Given the description of an element on the screen output the (x, y) to click on. 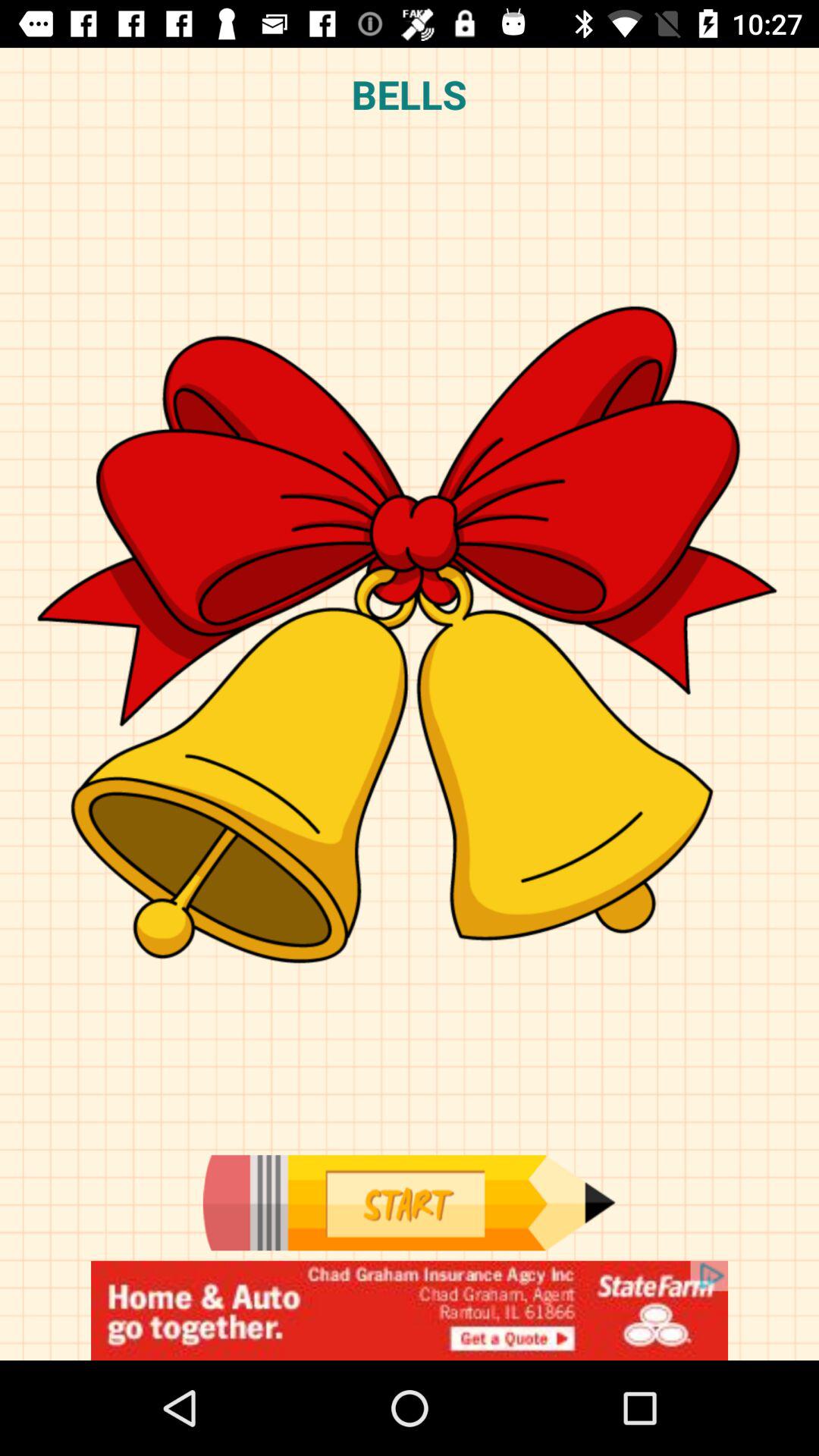
it is a start key (409, 1202)
